Given the description of an element on the screen output the (x, y) to click on. 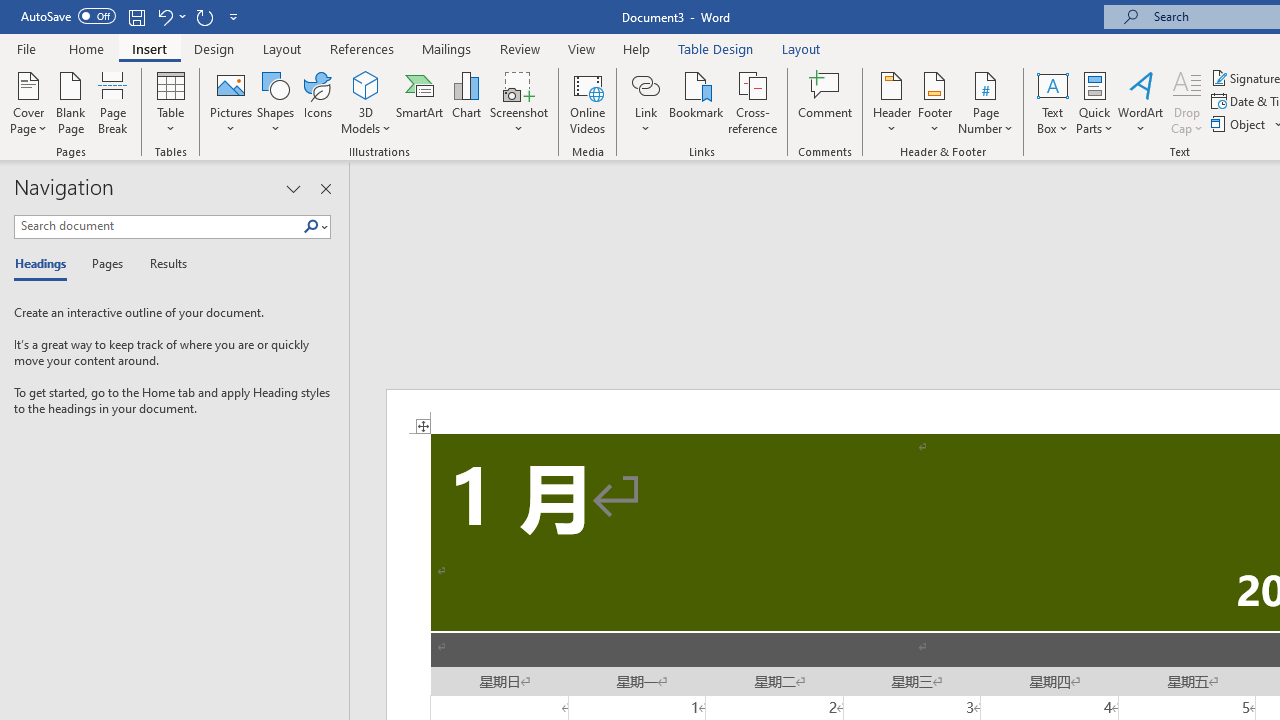
Cover Page (28, 102)
Quick Parts (1094, 102)
Object... (1240, 124)
Undo Increase Indent (164, 15)
Screenshot (518, 102)
Footer (934, 102)
WordArt (1141, 102)
Comment (825, 102)
Repeat Doc Close (204, 15)
Cross-reference... (752, 102)
